Given the description of an element on the screen output the (x, y) to click on. 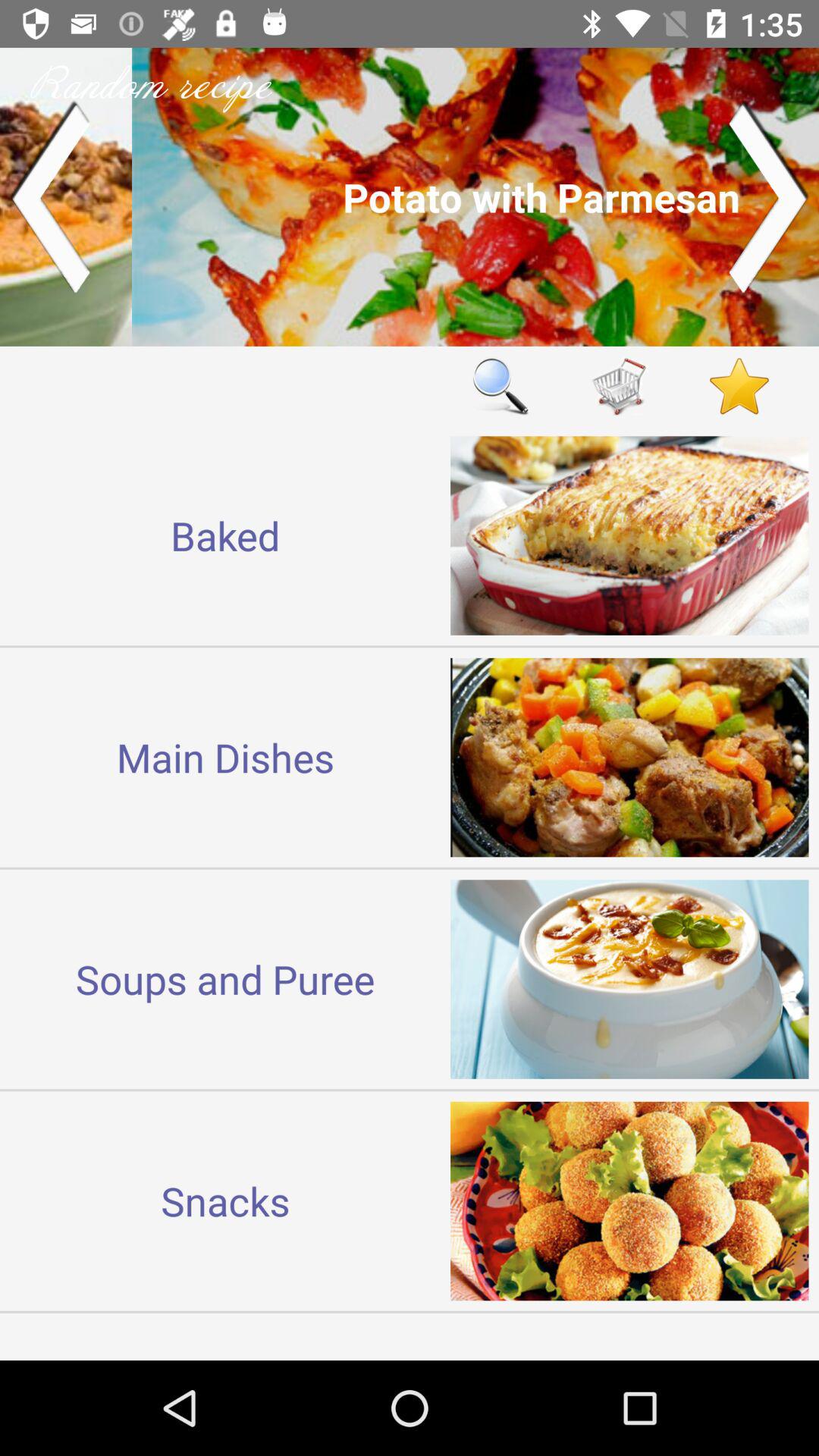
press icon below the soups and puree (225, 1200)
